Given the description of an element on the screen output the (x, y) to click on. 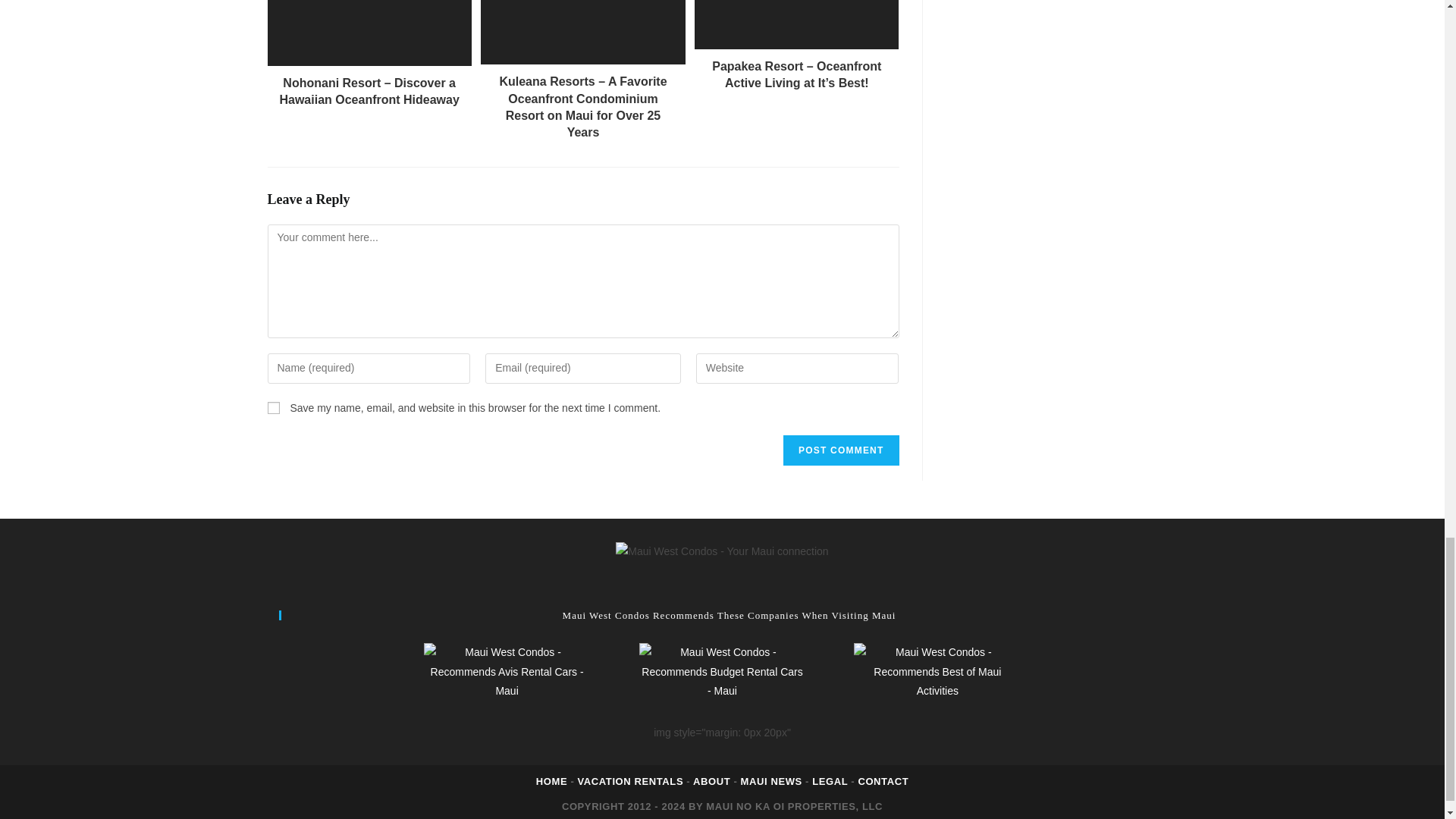
Post Comment (840, 450)
yes (272, 408)
Post Comment (840, 450)
